Given the description of an element on the screen output the (x, y) to click on. 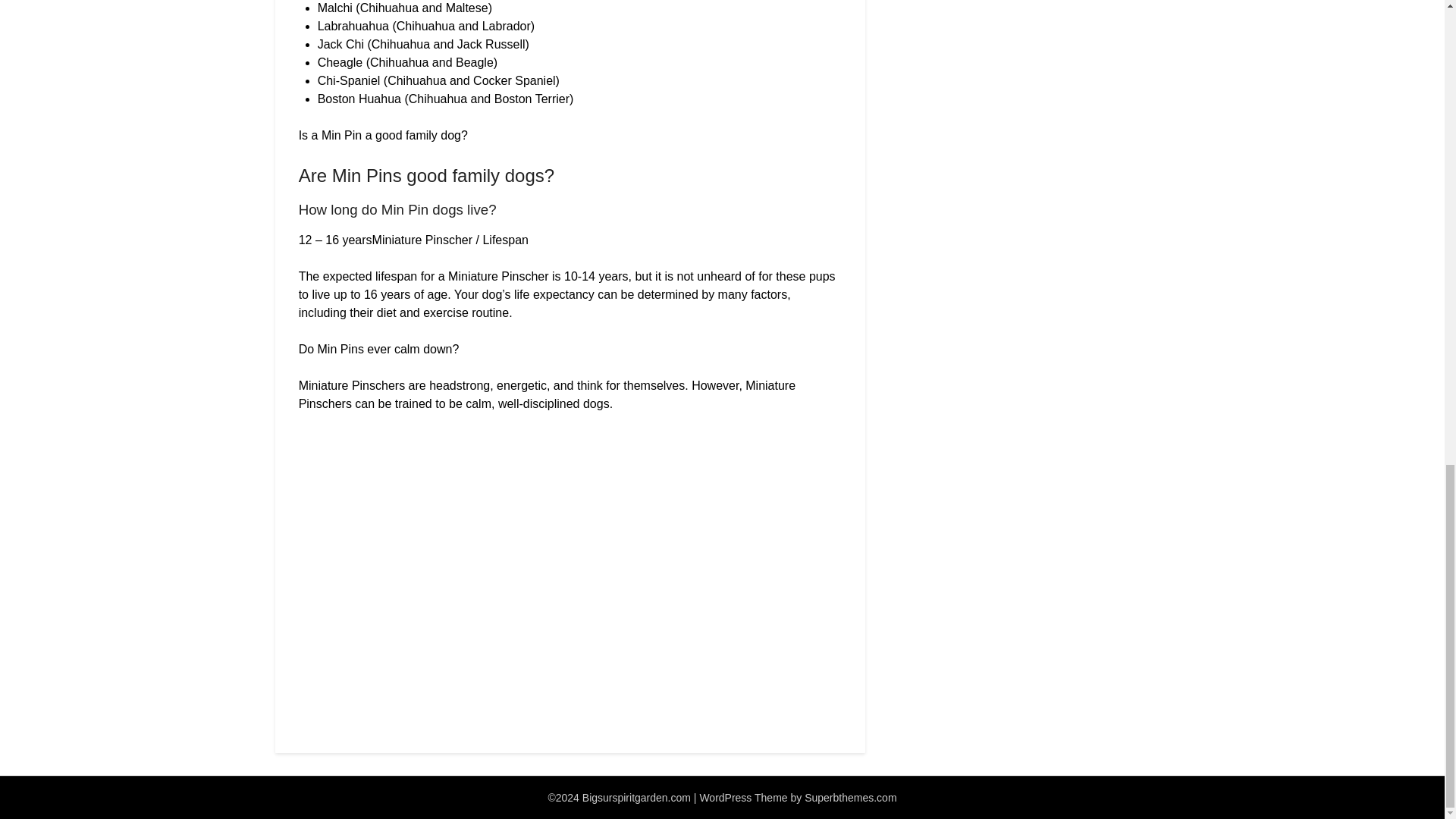
Superbthemes.com (850, 797)
